Given the description of an element on the screen output the (x, y) to click on. 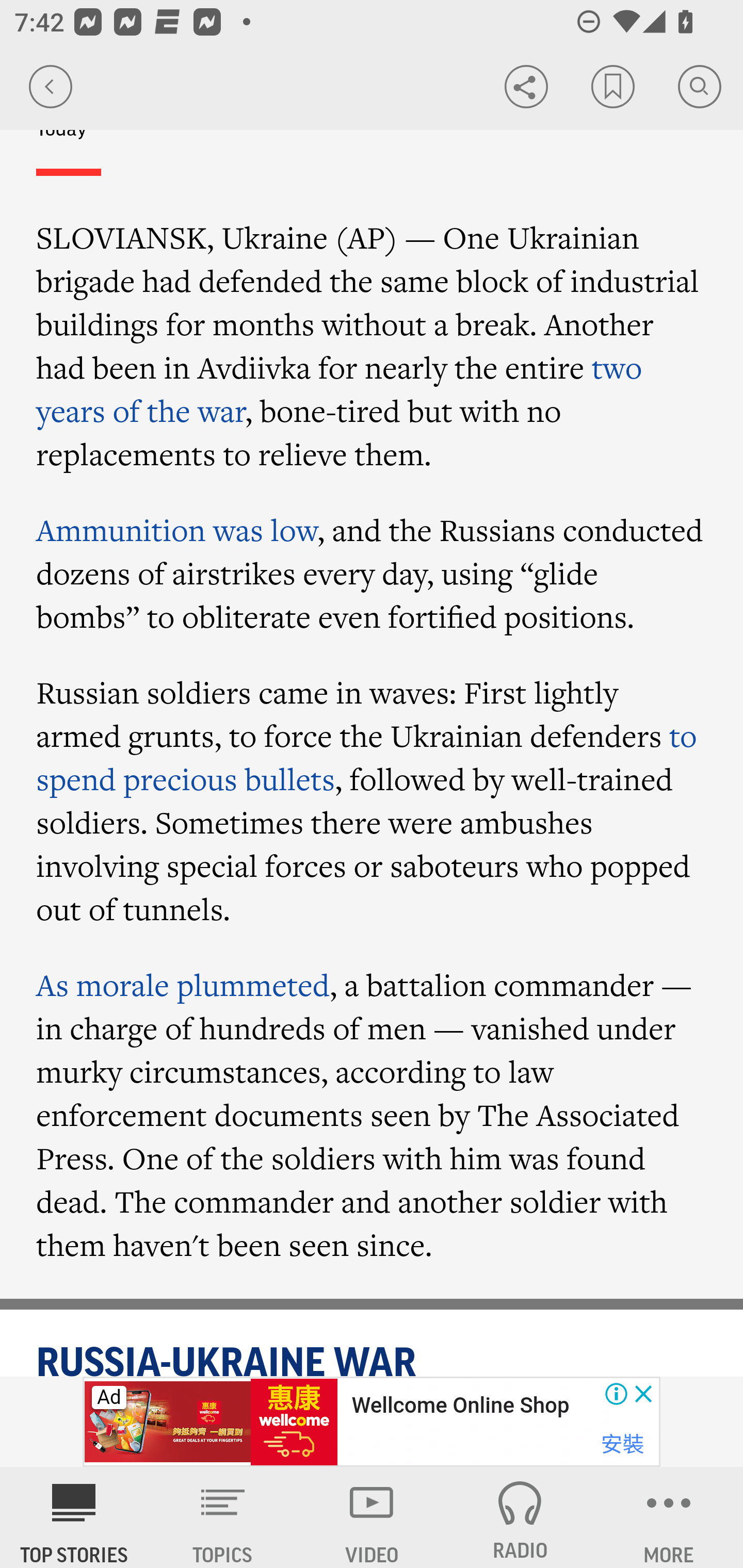
two years of the war (339, 389)
Ammunition was low (177, 529)
to spend precious bullets (367, 758)
As morale plummeted (182, 984)
RUSSIA-UKRAINE WAR (372, 1358)
Wellcome Online Shop (459, 1405)
安裝 (621, 1444)
AP News TOP STORIES (74, 1517)
TOPICS (222, 1517)
VIDEO (371, 1517)
RADIO (519, 1517)
MORE (668, 1517)
